Given the description of an element on the screen output the (x, y) to click on. 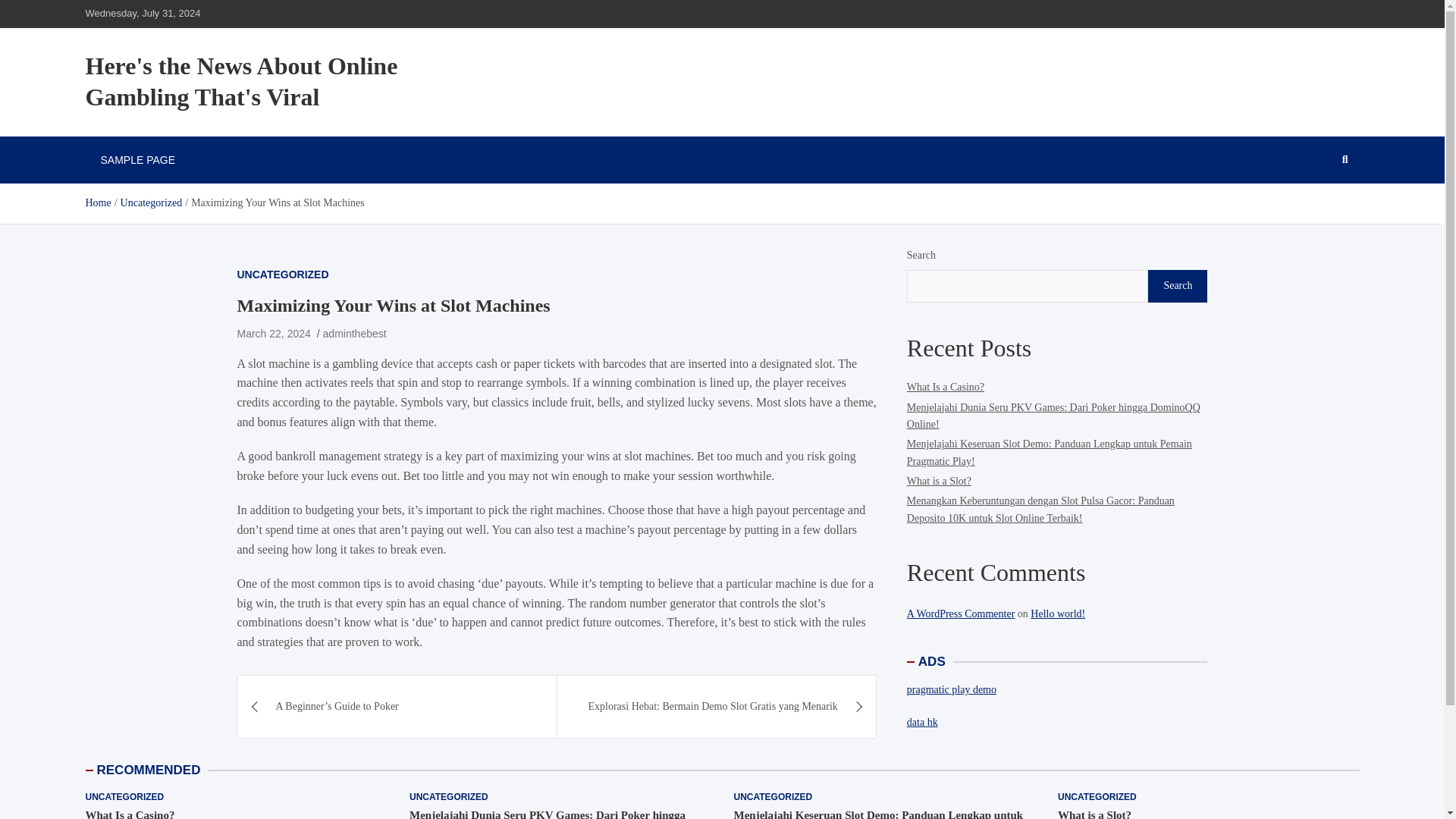
pragmatic play demo (951, 689)
A WordPress Commenter (960, 613)
Home (97, 202)
Here's the News About Online Gambling That's Viral (240, 81)
UNCATEGORIZED (282, 274)
Maximizing Your Wins at Slot Machines (272, 333)
Explorasi Hebat: Bermain Demo Slot Gratis yang Menarik (716, 706)
UNCATEGORIZED (772, 797)
UNCATEGORIZED (1097, 797)
SAMPLE PAGE (137, 159)
UNCATEGORIZED (123, 797)
March 22, 2024 (272, 333)
UNCATEGORIZED (448, 797)
